Given the description of an element on the screen output the (x, y) to click on. 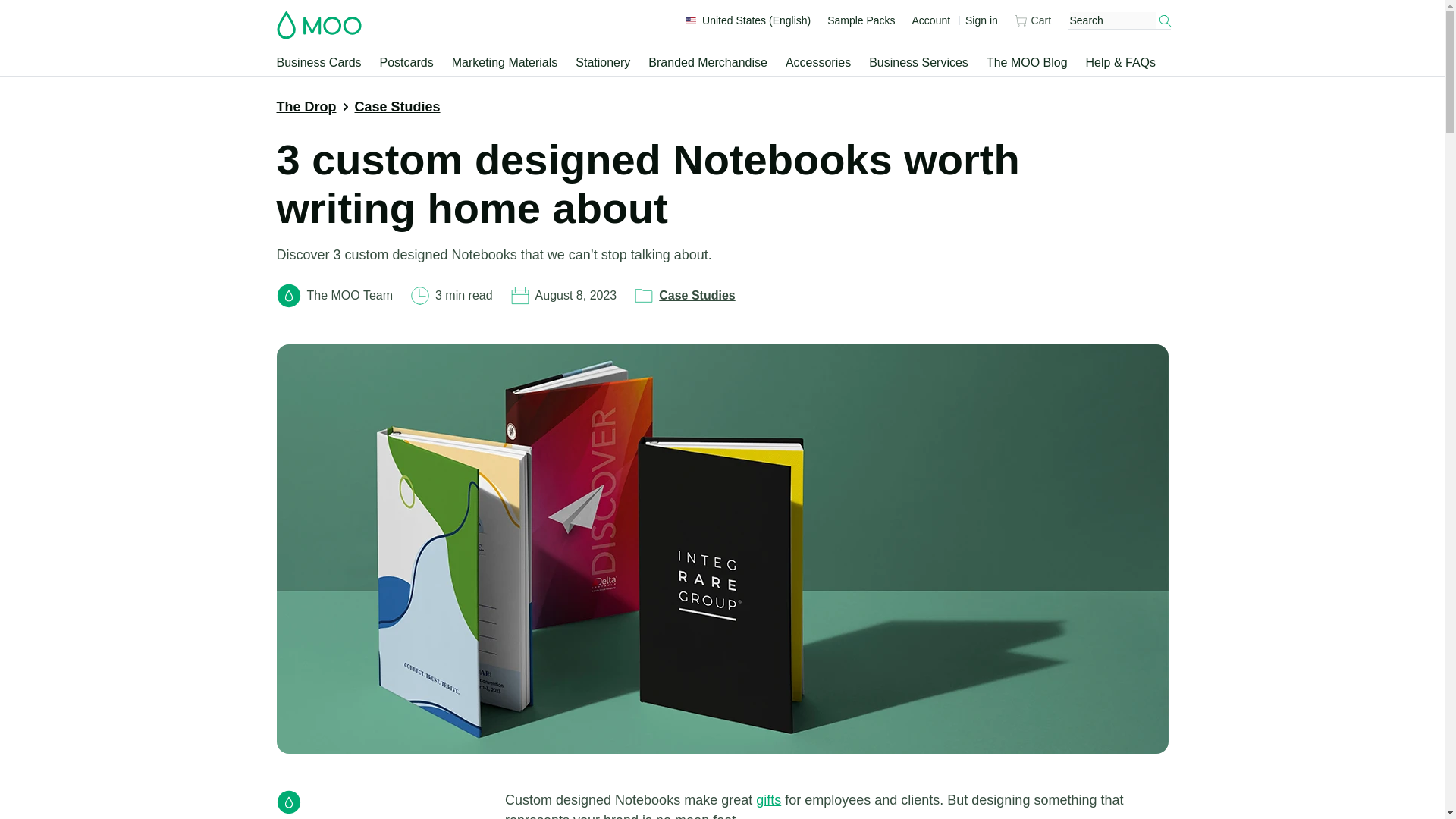
Business Cards (319, 63)
